Given the description of an element on the screen output the (x, y) to click on. 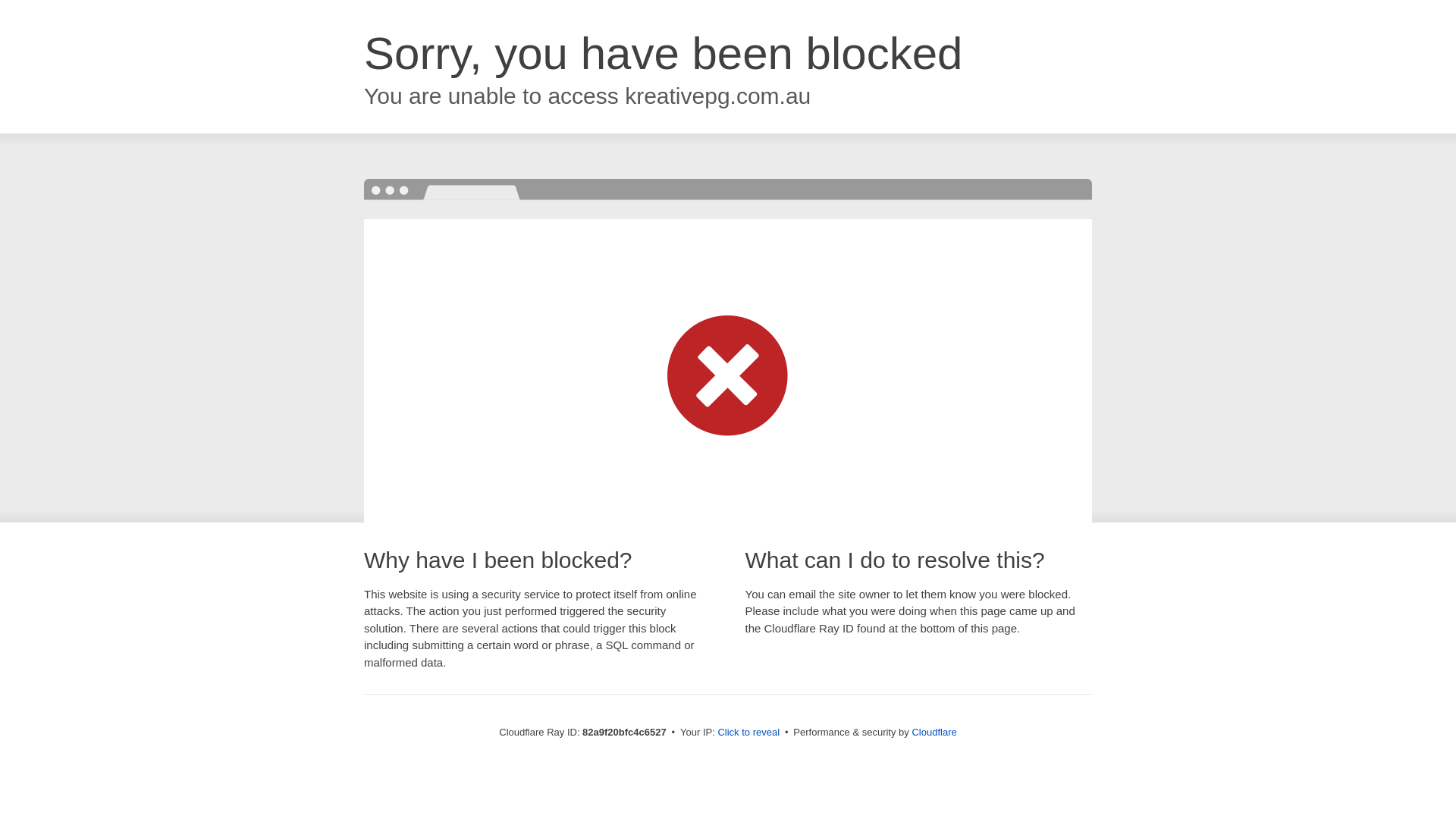
Cloudflare Element type: text (933, 731)
Click to reveal Element type: text (748, 732)
